Given the description of an element on the screen output the (x, y) to click on. 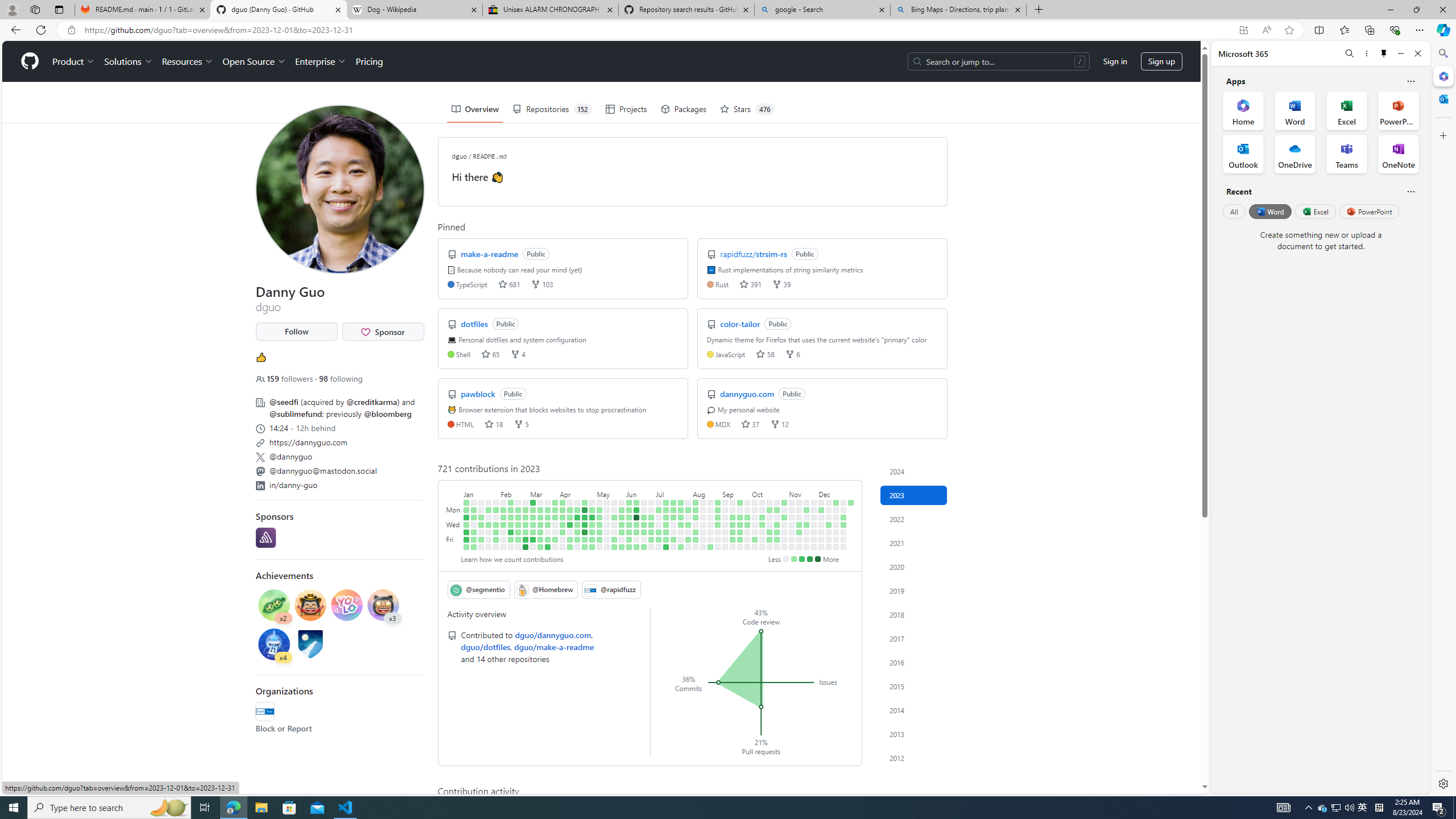
Teams Office App (1346, 154)
No contributions on November 3rd. (784, 539)
No contributions on September 28th. (747, 531)
Solutions (128, 60)
No contributions on April 7th. (562, 539)
Home Office App (1243, 110)
